Given the description of an element on the screen output the (x, y) to click on. 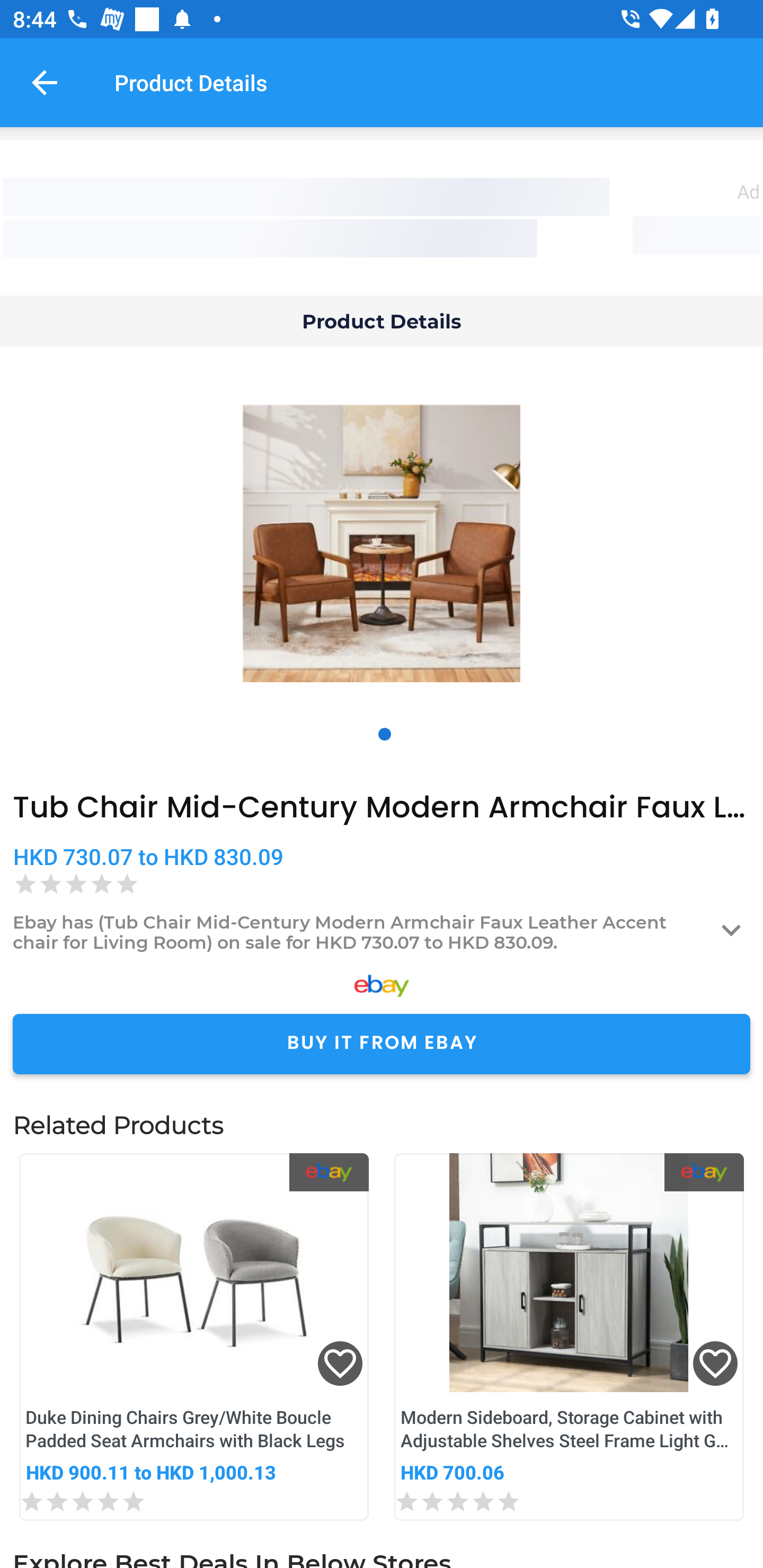
Navigate up (44, 82)
BUY IT FROM EBAY (381, 1044)
